Given the description of an element on the screen output the (x, y) to click on. 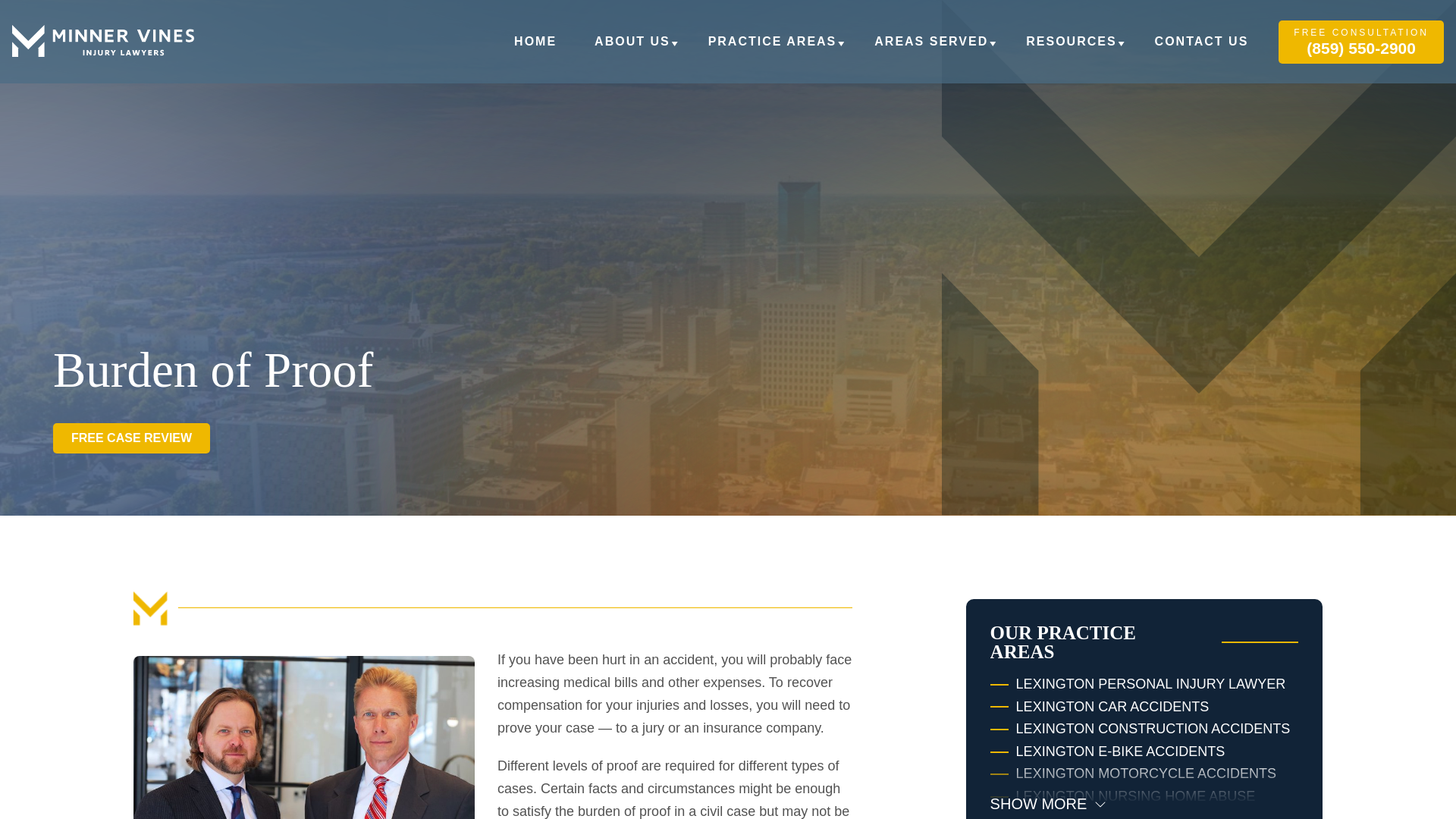
HOME (534, 50)
PRACTICE AREAS (772, 50)
ABOUT US (631, 50)
FREE CASE REVIEW (130, 438)
CONTACT US (1201, 50)
RESOURCES (1071, 50)
AREAS SERVED (931, 50)
